Given the description of an element on the screen output the (x, y) to click on. 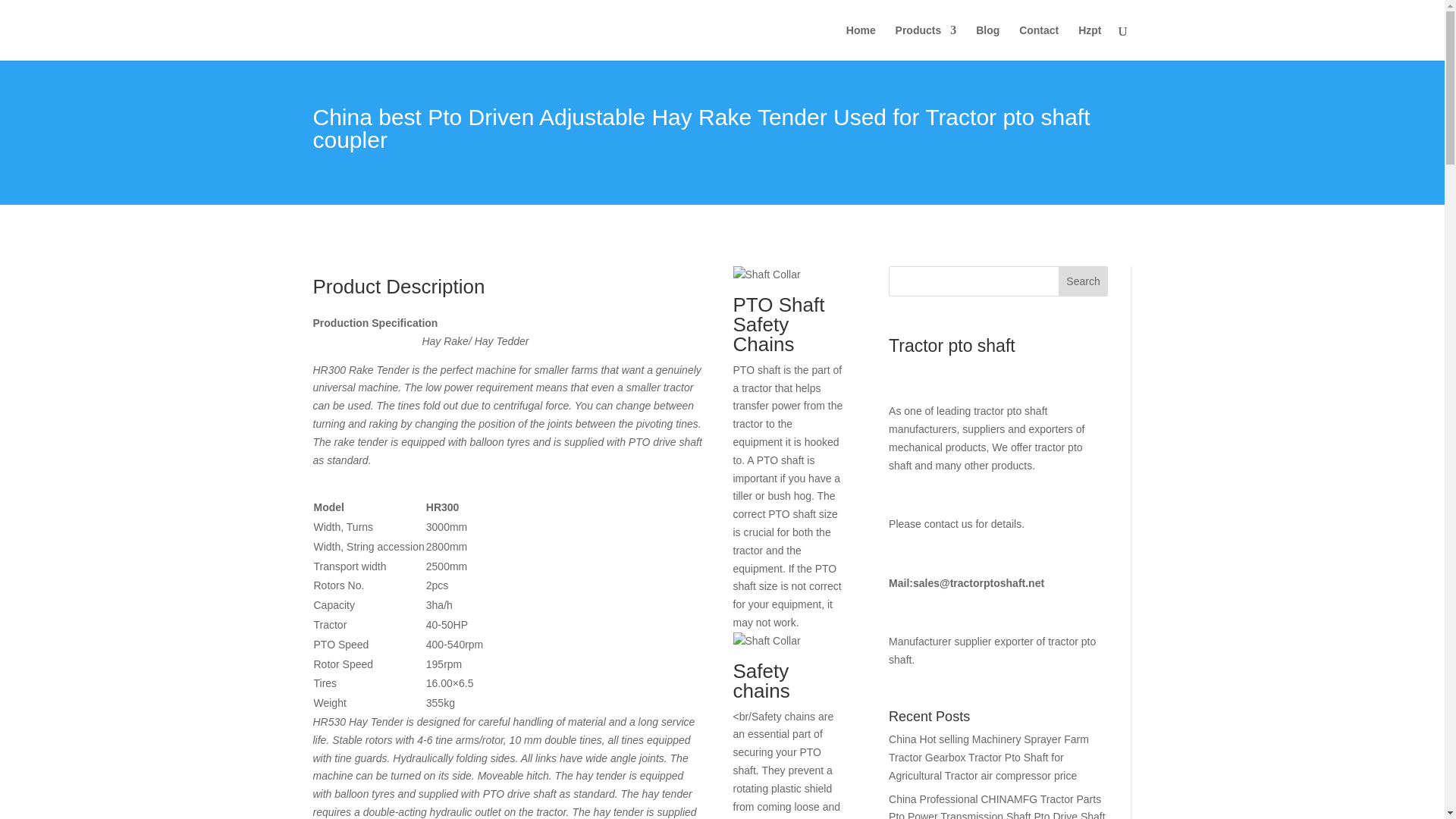
Home (860, 42)
Search (1083, 281)
Blog (986, 42)
Products (925, 42)
Contact (1038, 42)
Hzpt (1089, 42)
